Given the description of an element on the screen output the (x, y) to click on. 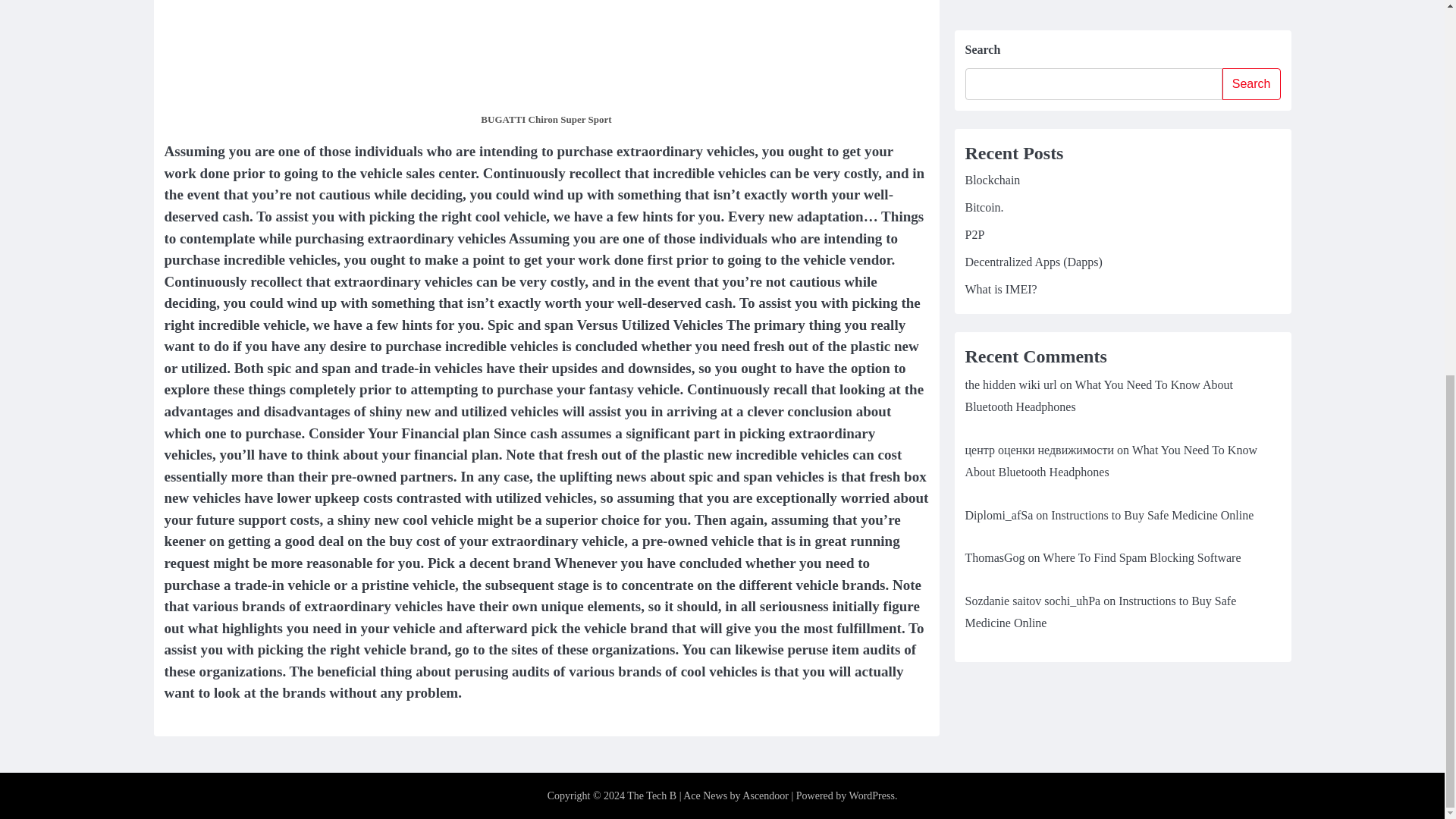
WordPress (871, 795)
Instructions to Buy Safe Medicine Online (1099, 78)
Where To Find Spam Blocking Software (1141, 24)
The Tech B (652, 795)
Ascendoor (765, 795)
Digital World Premiere: BUGATTI Chiron Super Sport (545, 53)
ThomasGog (994, 24)
